Given the description of an element on the screen output the (x, y) to click on. 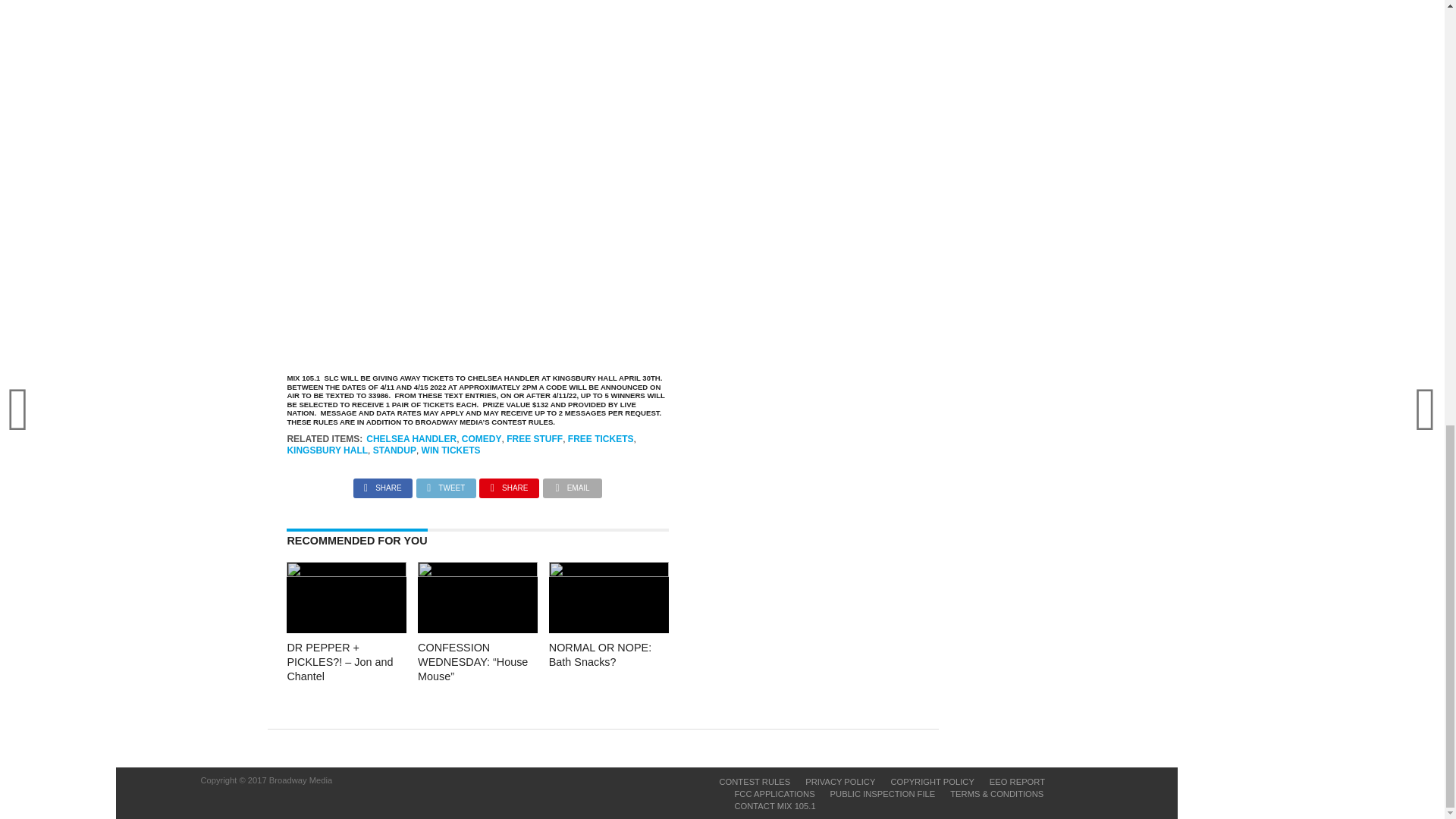
Tweet This Post (446, 483)
COMEDY (481, 439)
Share on Facebook (382, 483)
CHELSEA HANDLER (411, 439)
Pin This Post (508, 483)
